Given the description of an element on the screen output the (x, y) to click on. 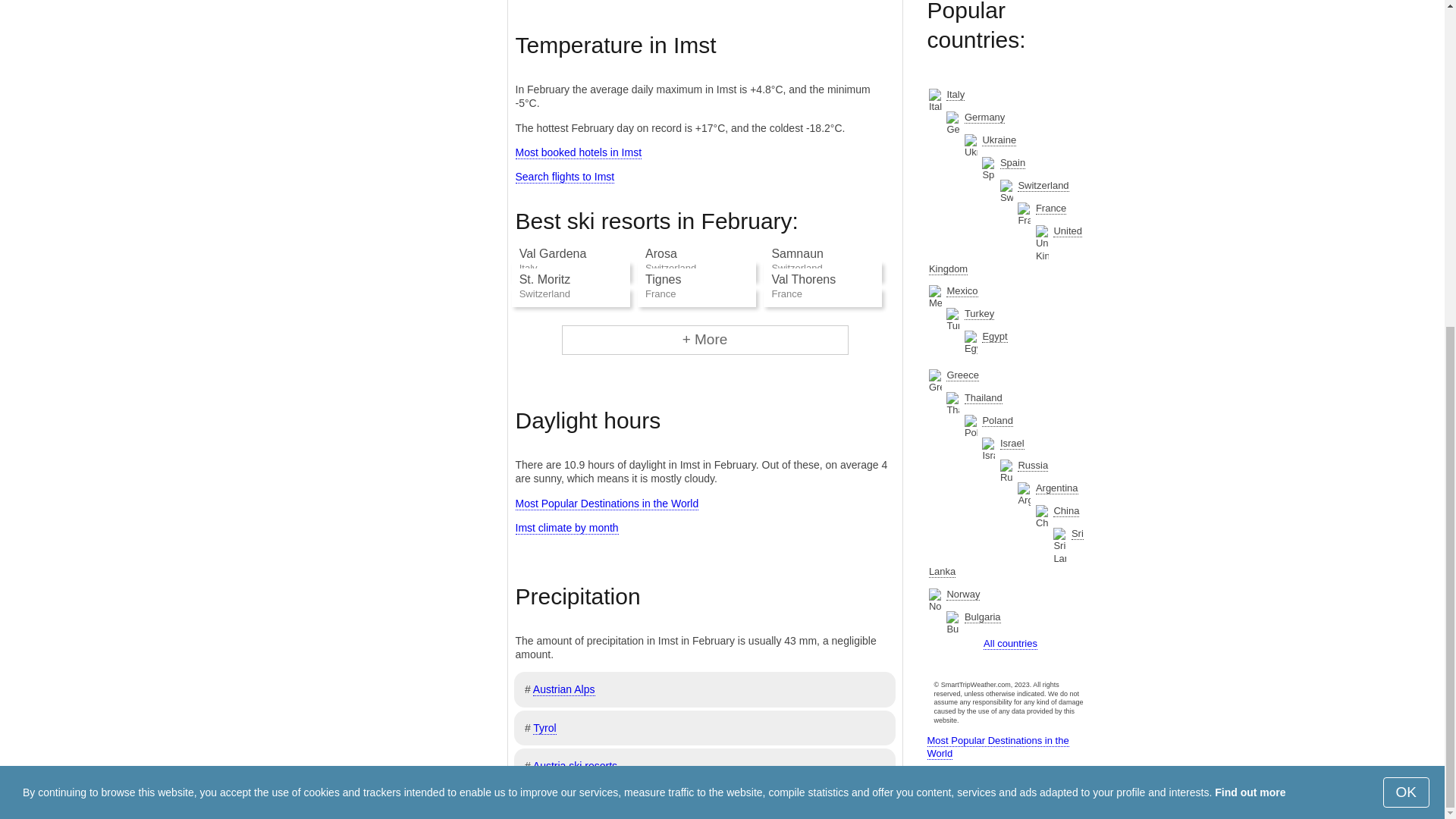
Austria ski resorts (574, 766)
Switzerland (1042, 185)
Mexico (961, 291)
Turkey (978, 313)
Search flights to Imst (564, 176)
St. Moritz (544, 278)
Samnaun (797, 253)
France (1050, 208)
Most booked hotels in Imst (578, 152)
Tignes (663, 278)
